Given the description of an element on the screen output the (x, y) to click on. 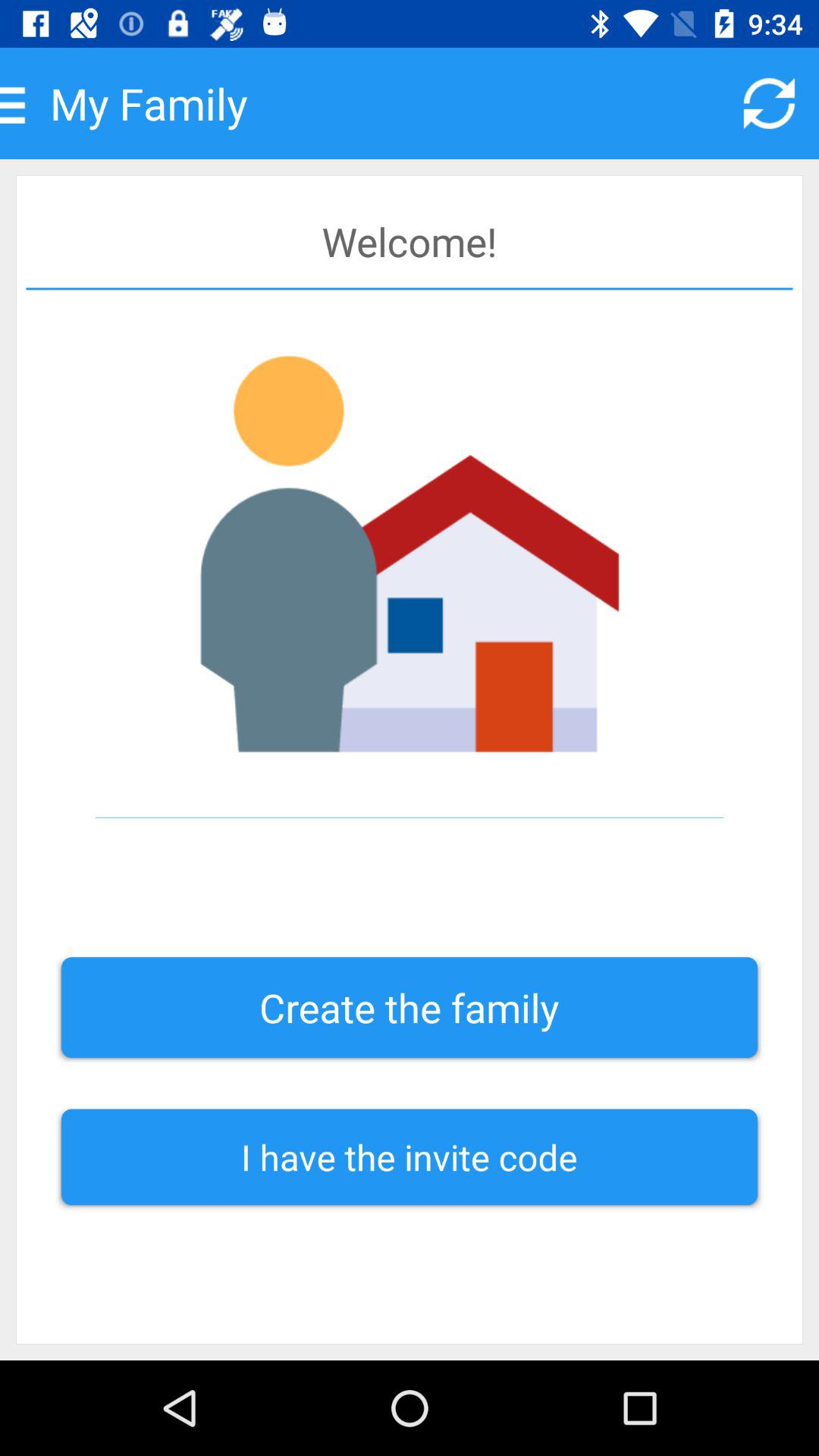
refresh (769, 103)
